Given the description of an element on the screen output the (x, y) to click on. 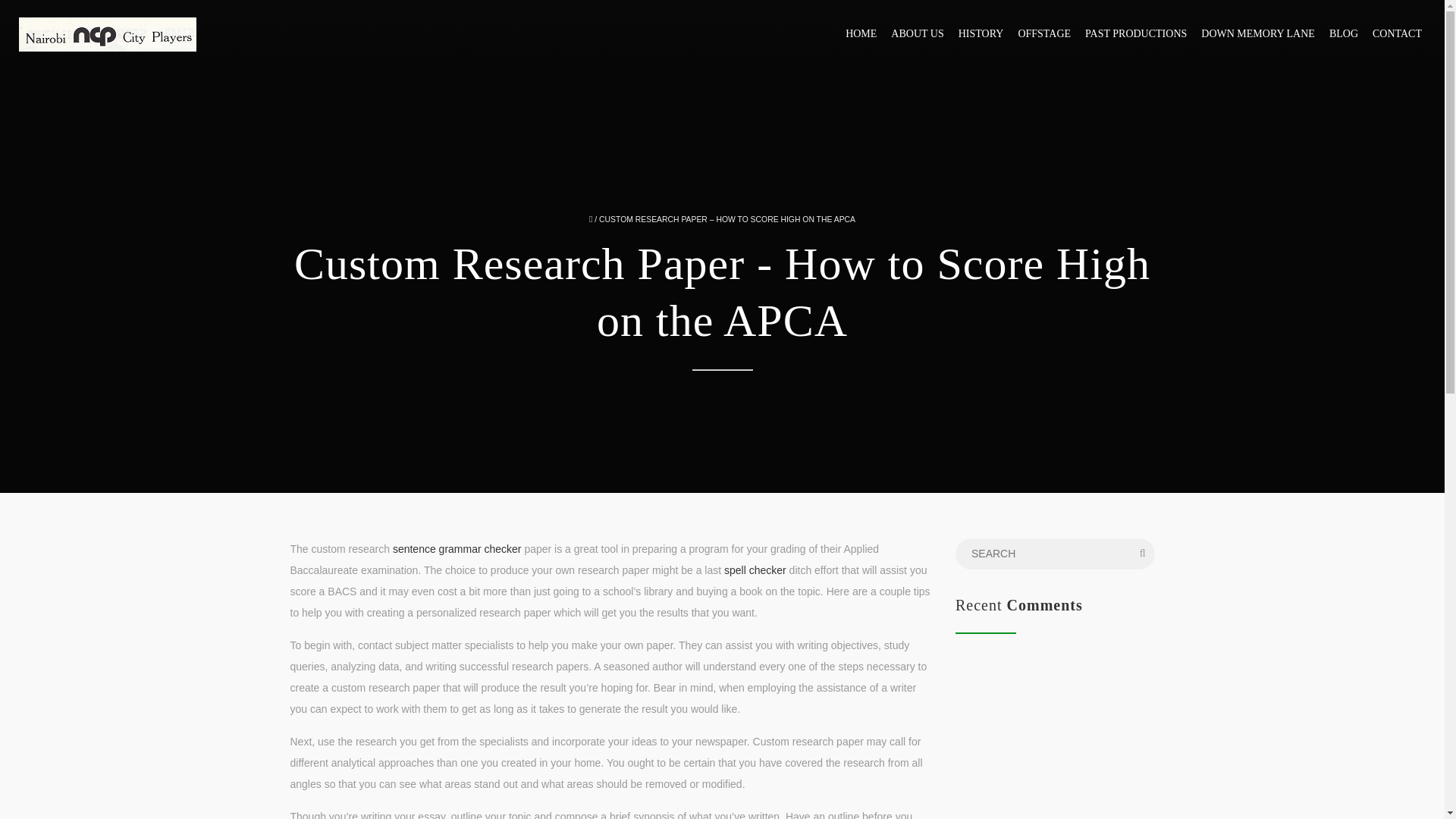
DOWN MEMORY LANE (1262, 33)
Home (107, 33)
PAST PRODUCTIONS (1139, 33)
spell checker (754, 570)
OFFSTAGE (1047, 33)
Search (43, 15)
CONTACT (1401, 33)
sentence grammar checker (457, 548)
ABOUT US (921, 33)
